Given the description of an element on the screen output the (x, y) to click on. 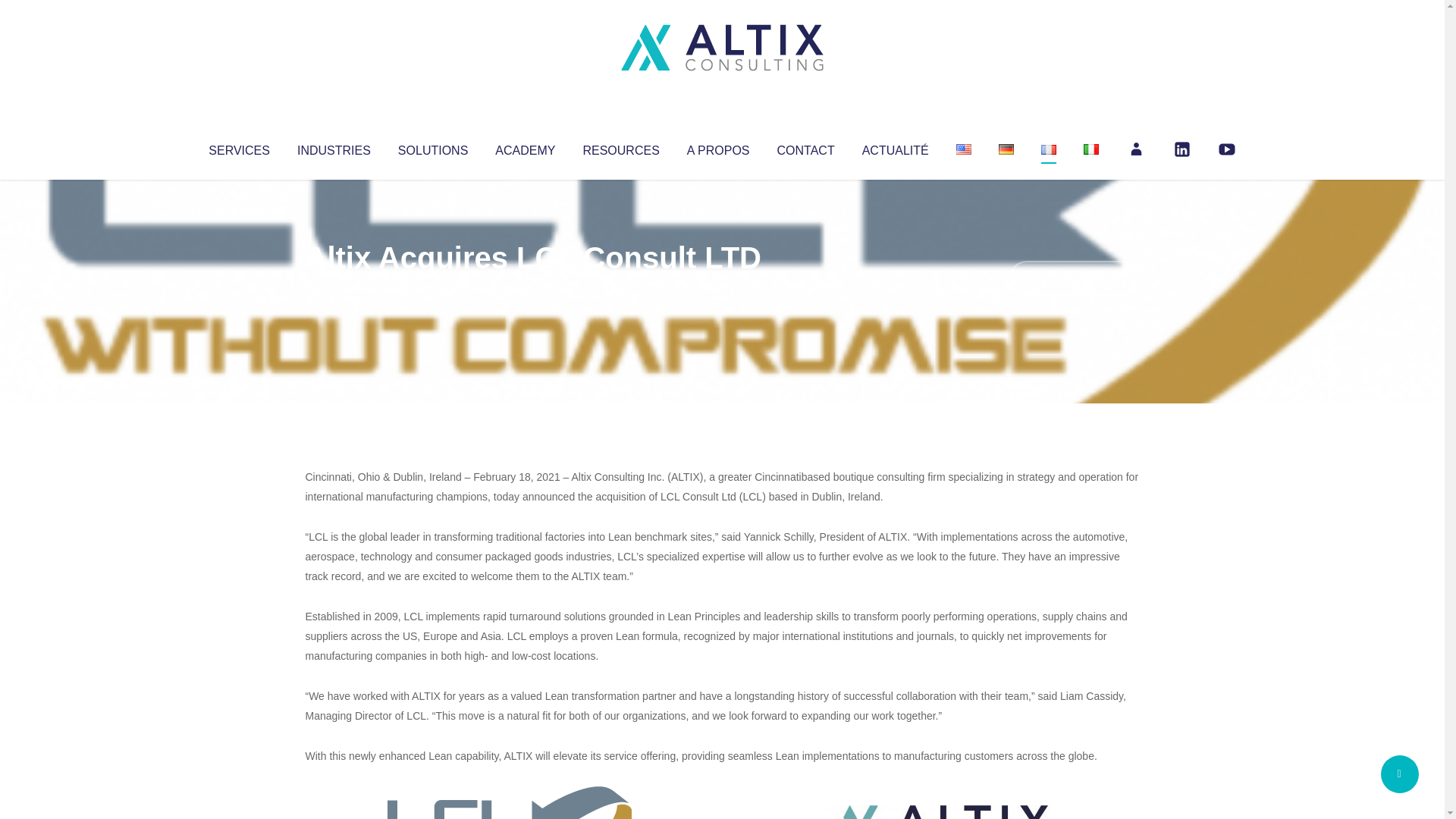
No Comments (1073, 278)
SERVICES (238, 146)
A PROPOS (718, 146)
Altix (333, 287)
RESOURCES (620, 146)
Articles par Altix (333, 287)
INDUSTRIES (334, 146)
Uncategorized (530, 287)
ACADEMY (524, 146)
SOLUTIONS (432, 146)
